Given the description of an element on the screen output the (x, y) to click on. 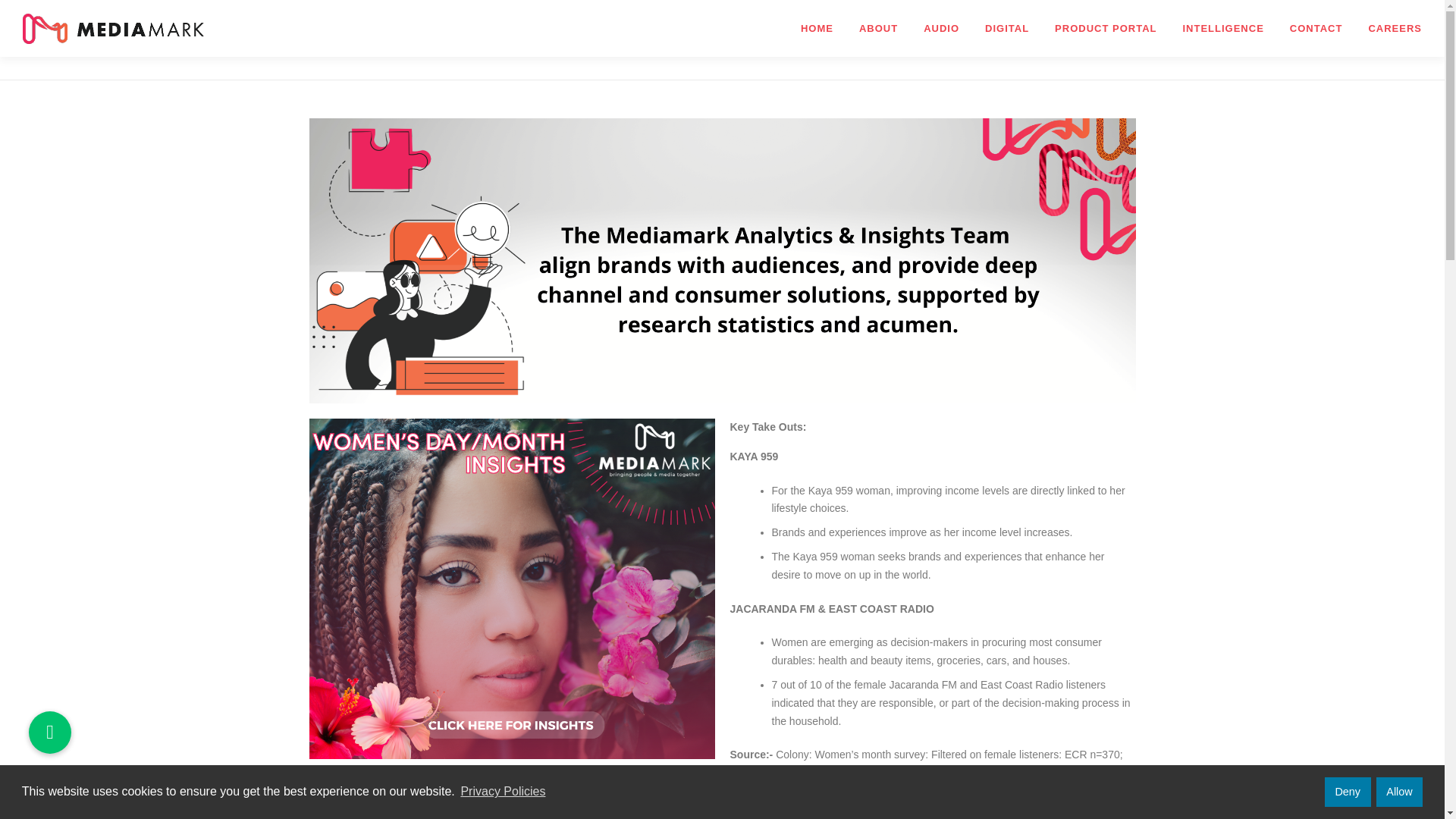
PRODUCT PORTAL (1105, 28)
DIGITAL (1007, 28)
INTELLIGENCE (1222, 28)
CAREERS (1388, 28)
AUDIO (941, 28)
HOME (816, 28)
CONTACT (1315, 28)
ABOUT (878, 28)
